Given the description of an element on the screen output the (x, y) to click on. 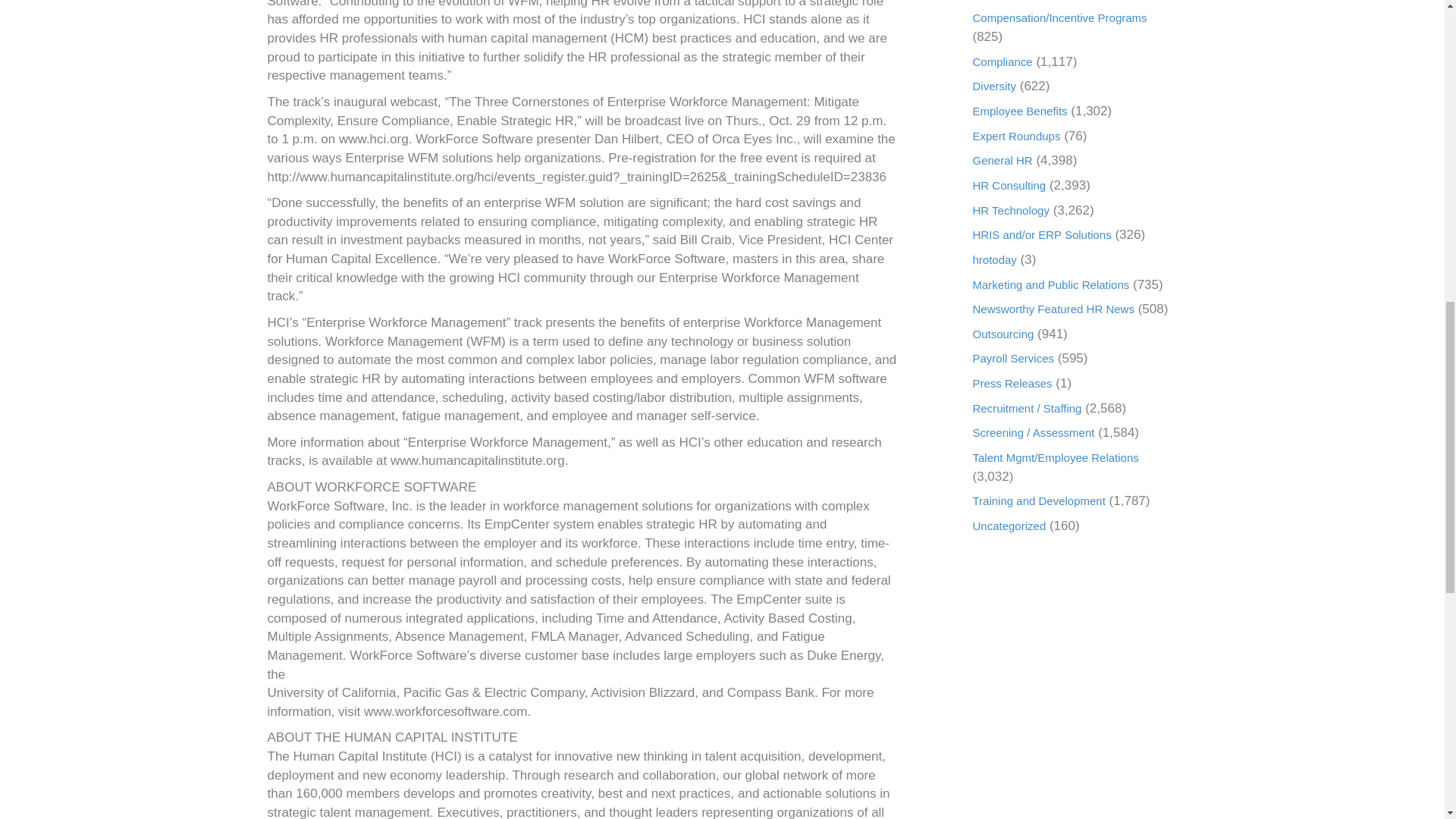
Press Releases (1011, 382)
Expert Roundups (1015, 135)
Uncategorized (1008, 525)
Training and Development (1038, 500)
hrotoday (994, 259)
Marketing and Public Relations (1050, 283)
Diversity (994, 85)
Employee Benefits (1019, 110)
General HR (1002, 160)
Outsourcing (1002, 333)
HR Consulting (1008, 185)
Payroll Services (1013, 358)
Compliance (1002, 61)
HR Technology (1010, 210)
Newsworthy Featured HR News (1053, 308)
